Given the description of an element on the screen output the (x, y) to click on. 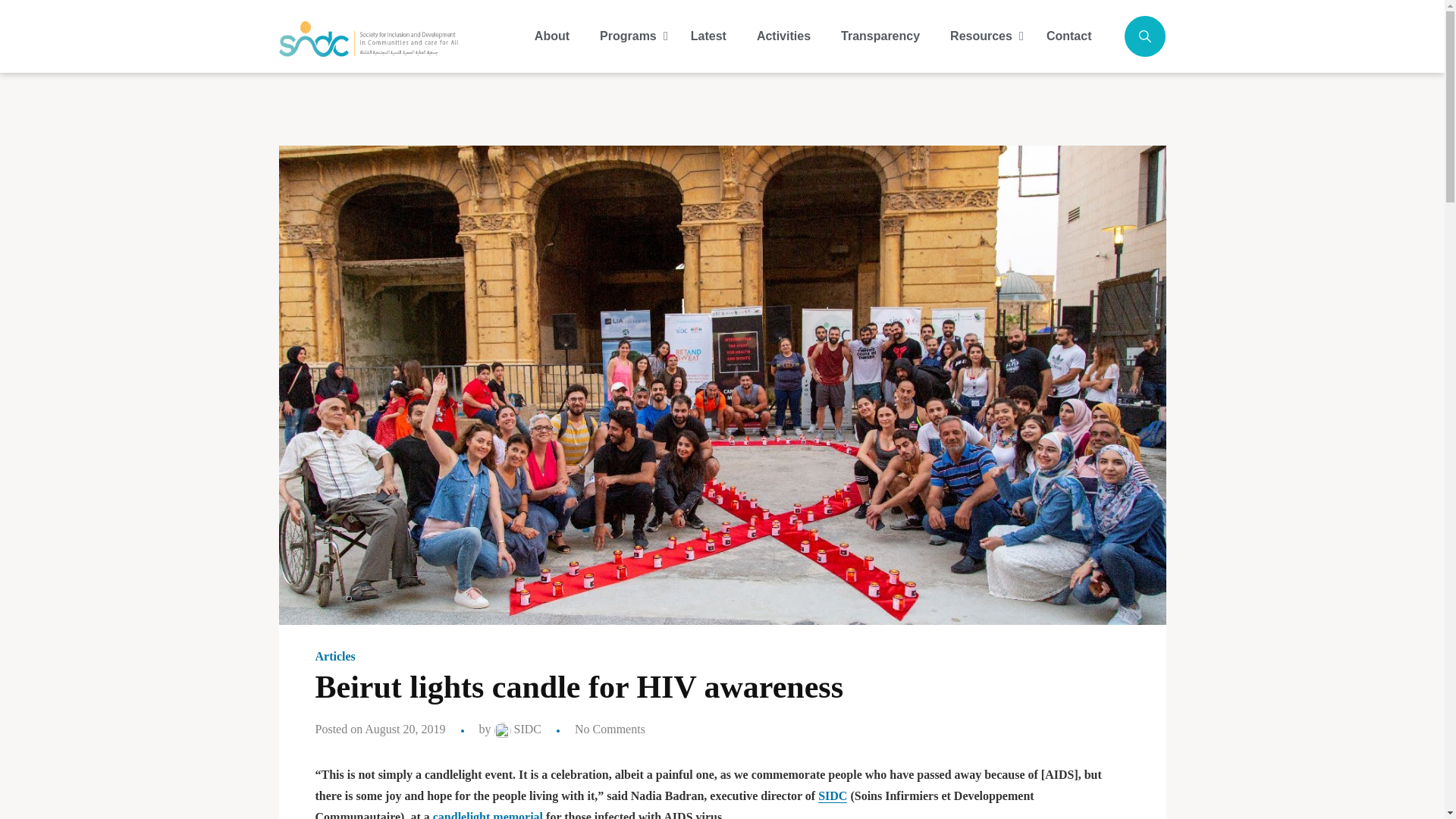
Contact (1068, 36)
No Comments (610, 728)
About (552, 36)
Programs (630, 36)
Resources (982, 36)
Activities (783, 36)
Search (1111, 116)
Articles (335, 656)
Latest (708, 36)
SIDC (518, 728)
SIDC (832, 795)
Transparency (879, 36)
